Given the description of an element on the screen output the (x, y) to click on. 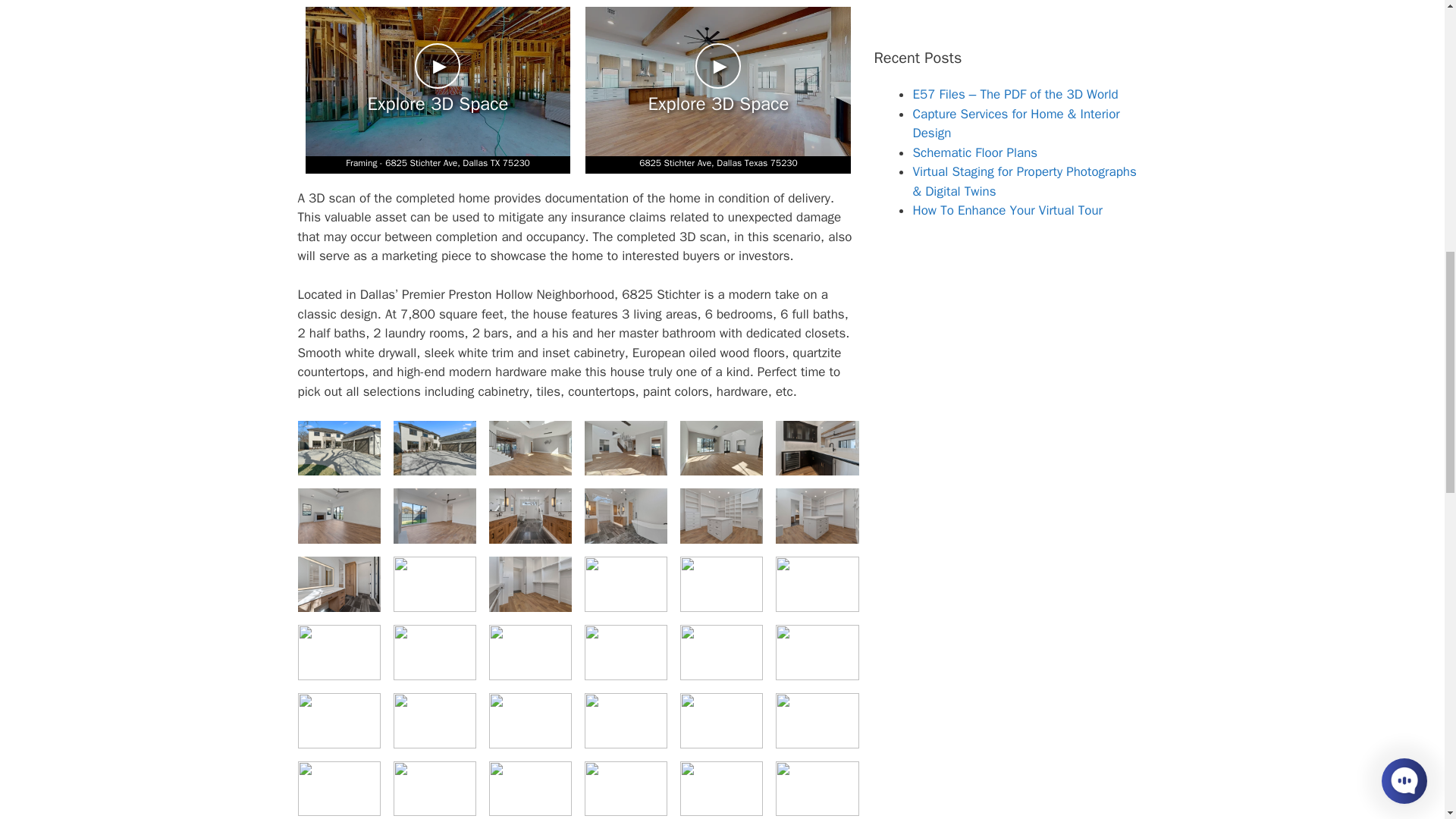
Schematic Floor Plans (974, 151)
How To Enhance Your Virtual Tour (1007, 210)
Framing - 6825 Stichter Ave, Dallas TX 75230 (437, 164)
6825 Stichter Ave, Dallas Texas 75230 (717, 164)
Scroll back to top (1406, 720)
